Given the description of an element on the screen output the (x, y) to click on. 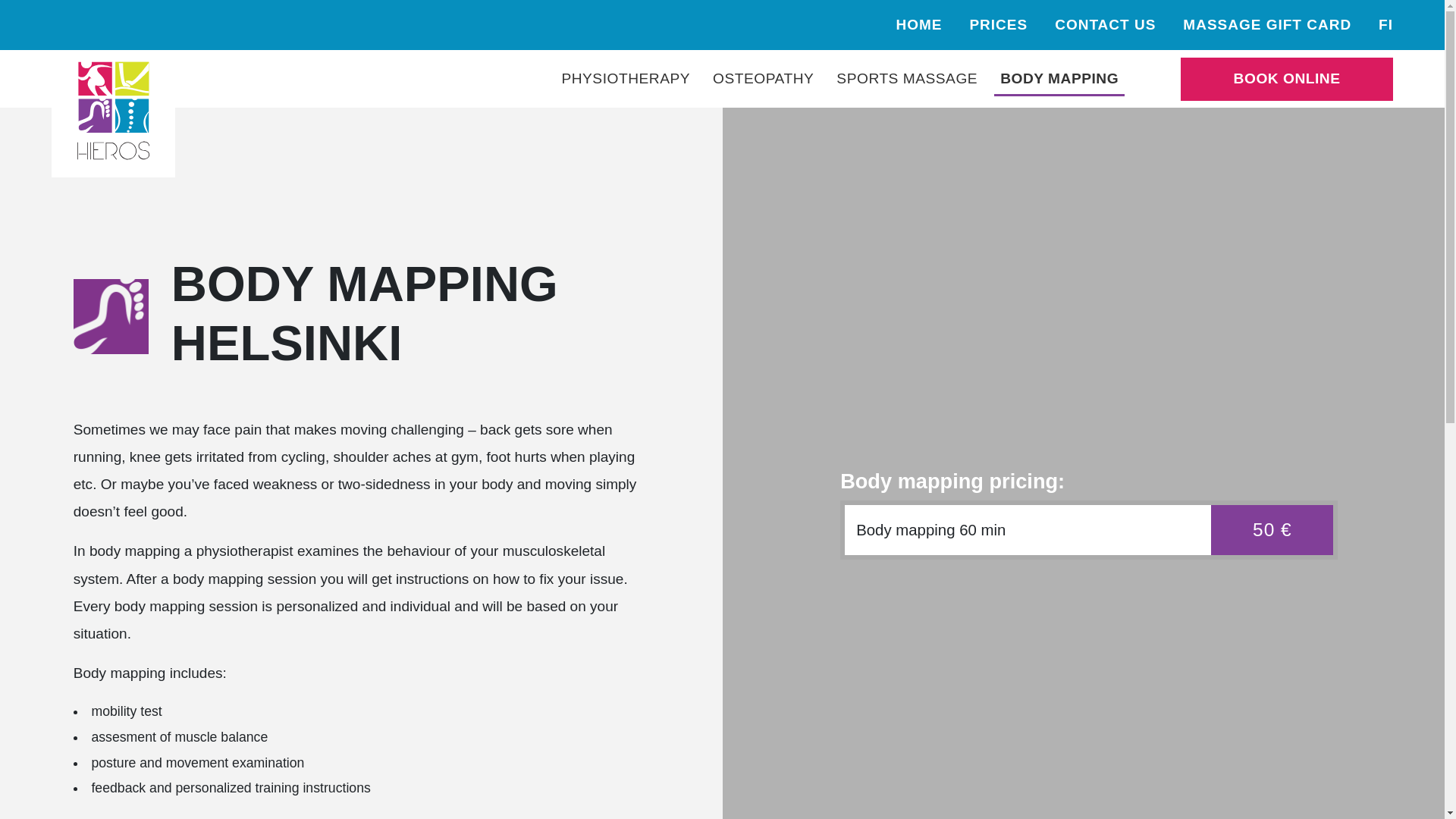
SPORTS MASSAGE (906, 78)
MASSAGE GIFT CARD (1266, 24)
PRICES (998, 24)
OSTEOPATHY (762, 78)
BODY MAPPING (1059, 78)
PHYSIOTHERAPY (624, 78)
CONTACT US (1105, 24)
BOOK ONLINE (1286, 78)
FI (1385, 24)
HOME (918, 24)
